Given the description of an element on the screen output the (x, y) to click on. 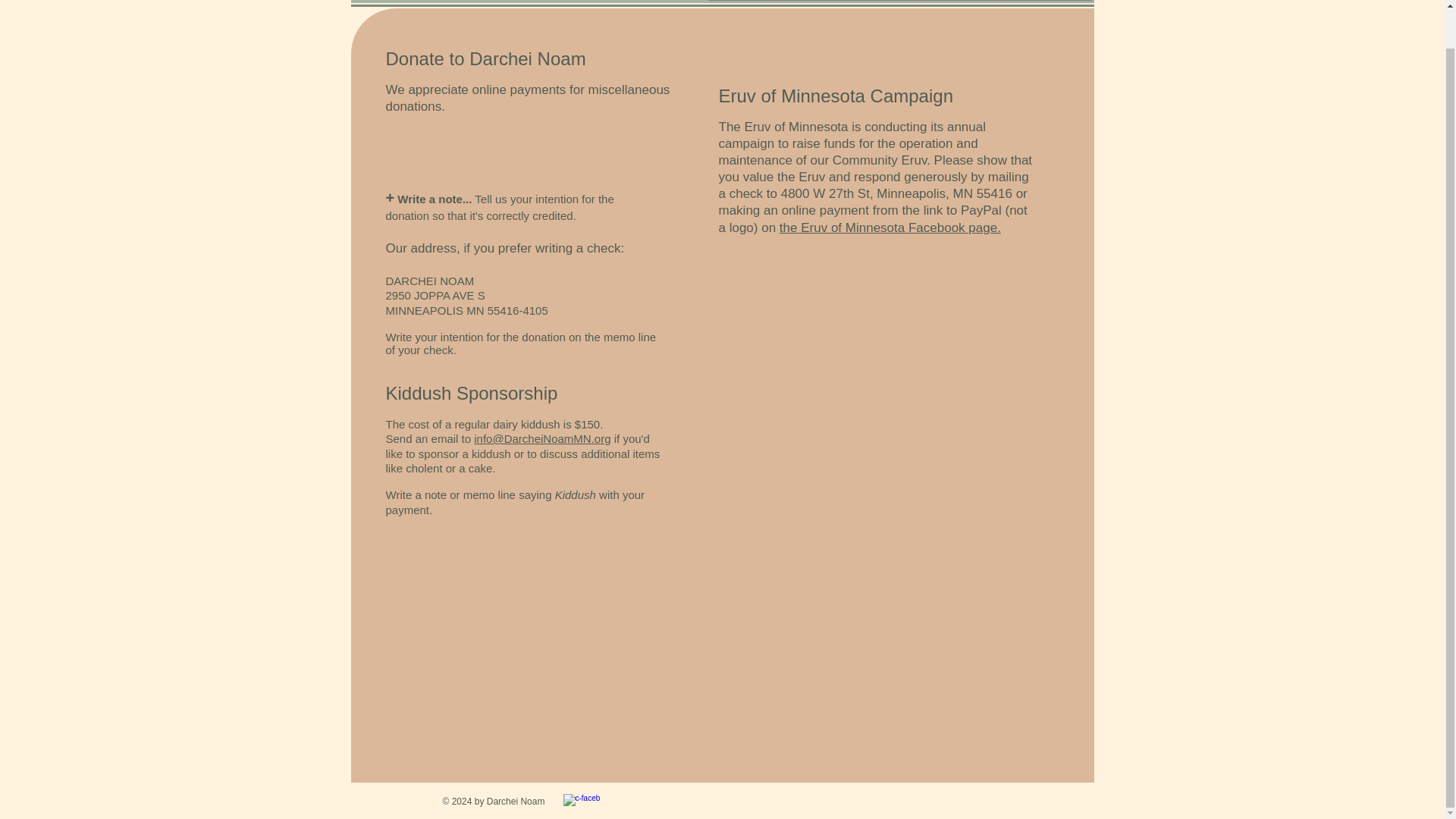
the Eruv of Minnesota Facebook page. (889, 227)
